Given the description of an element on the screen output the (x, y) to click on. 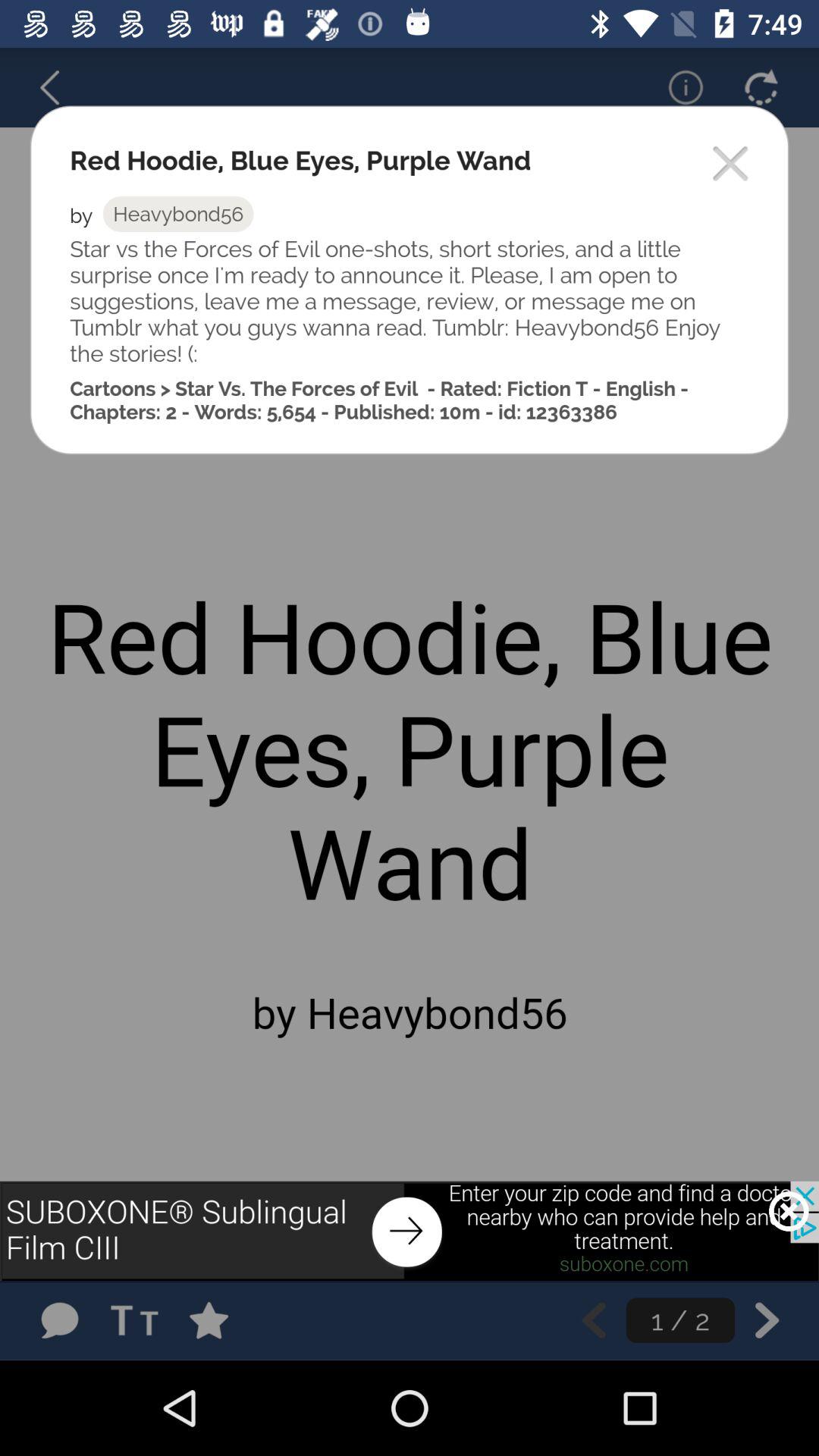
open information (675, 87)
